Given the description of an element on the screen output the (x, y) to click on. 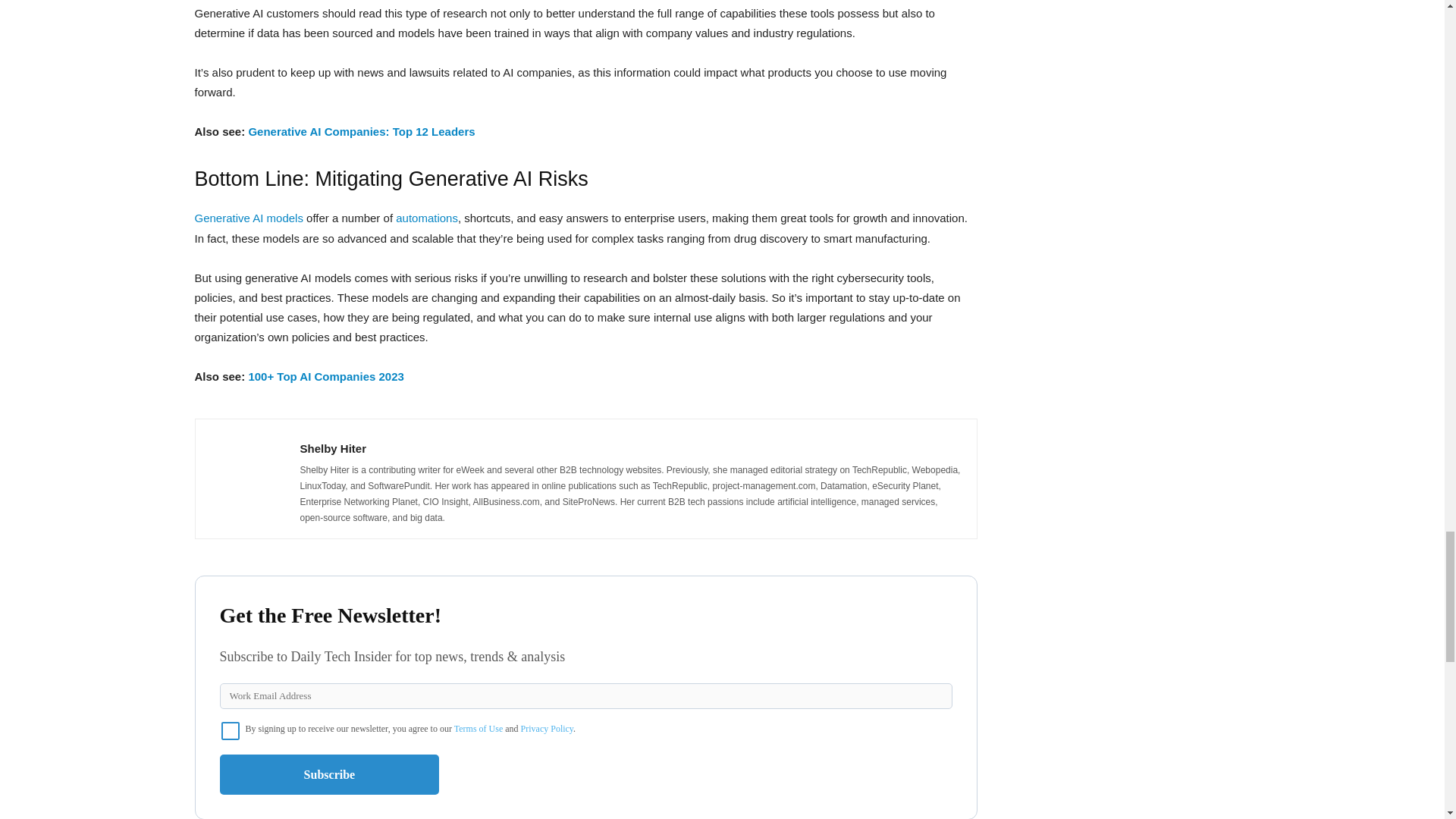
on (230, 730)
